Given the description of an element on the screen output the (x, y) to click on. 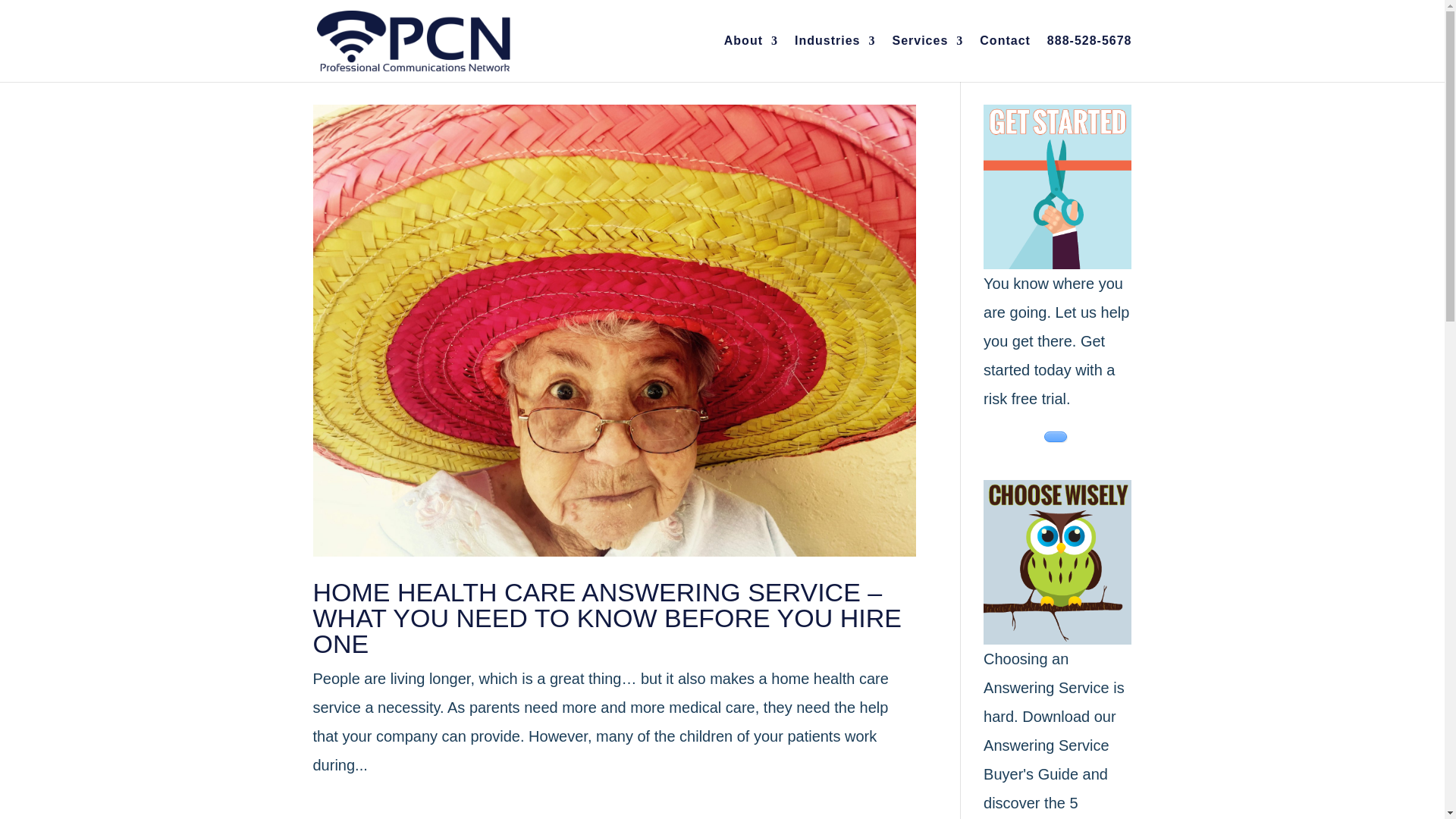
About (750, 58)
Services (926, 58)
888-528-5678 (1089, 58)
Industries (834, 58)
Contact (1004, 58)
